Given the description of an element on the screen output the (x, y) to click on. 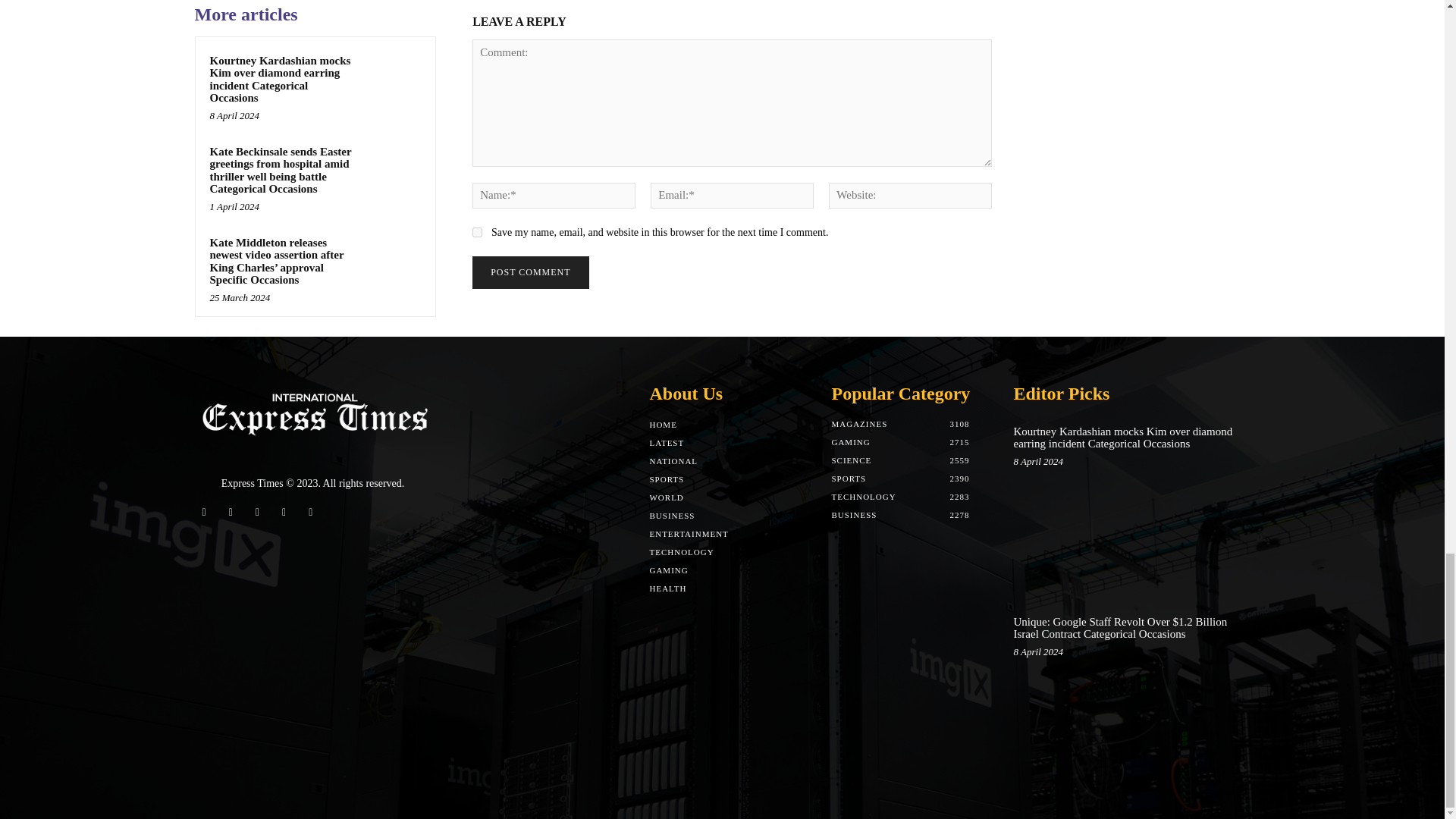
yes (476, 232)
Post Comment (529, 272)
